Given the description of an element on the screen output the (x, y) to click on. 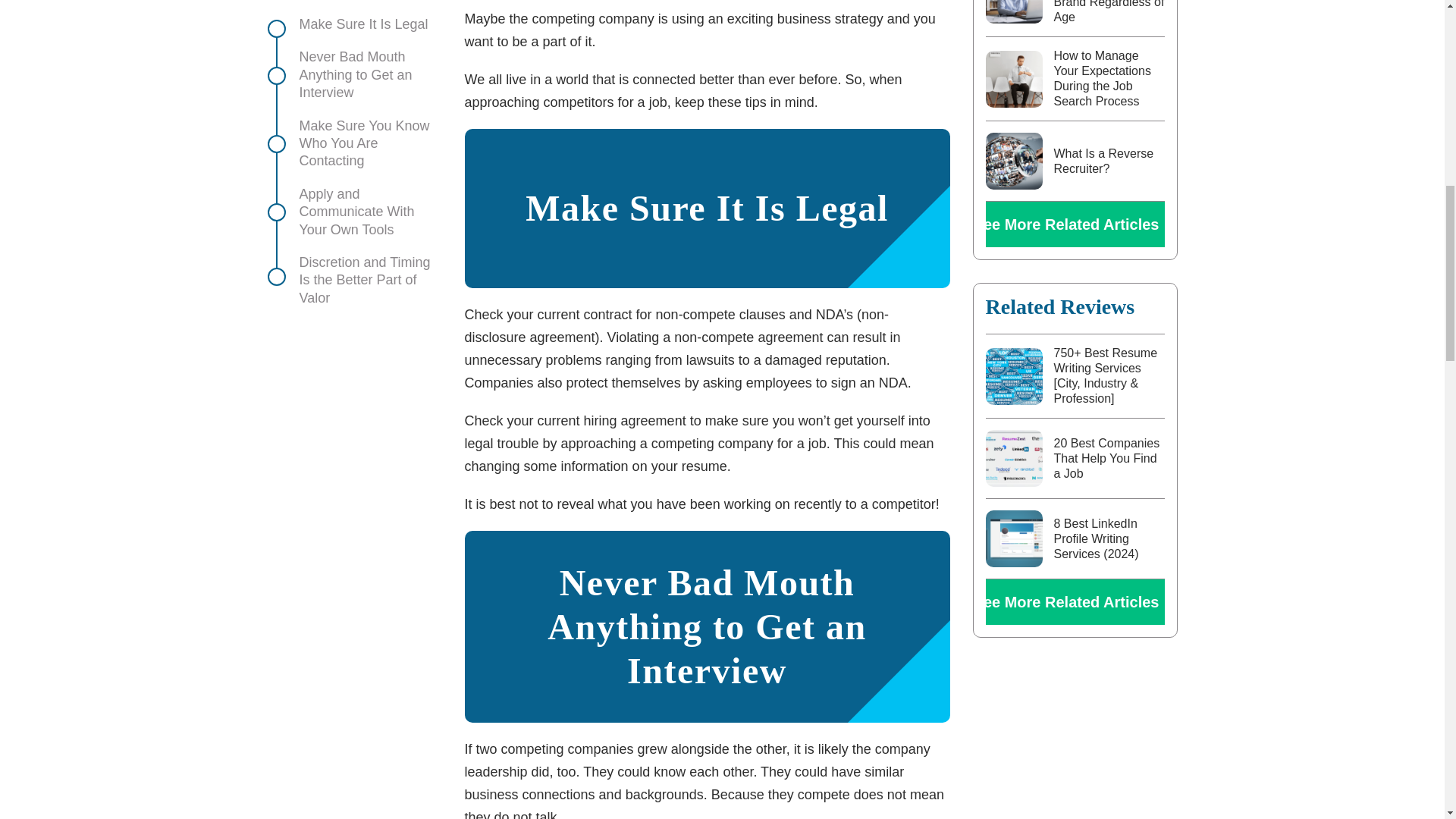
Make Sure You Know Who You Are Contacting (353, 34)
20 Best Companies That Help You Find a Job (1107, 457)
Apply and Communicate With Your Own Tools (353, 102)
See More Related Articles (1074, 224)
Discretion and Timing Is the Better Part of Valor (353, 171)
What Is a Reverse Recruiter? (1104, 161)
How to Build a Strong Personal Brand Regardless of Age (1109, 11)
